Given the description of an element on the screen output the (x, y) to click on. 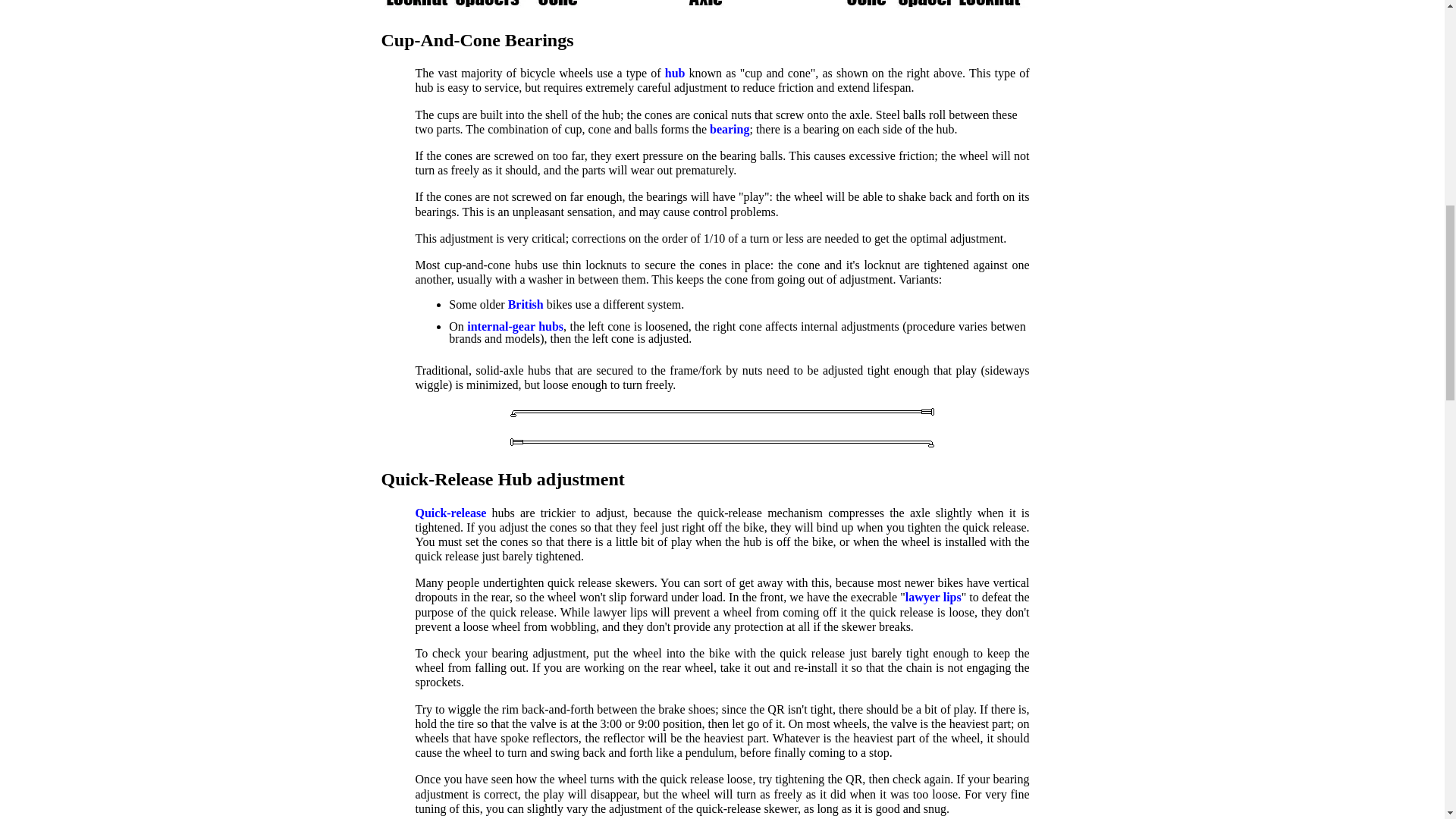
British (525, 304)
internal-gear hubs (515, 326)
Quick-release (450, 512)
